Given the description of an element on the screen output the (x, y) to click on. 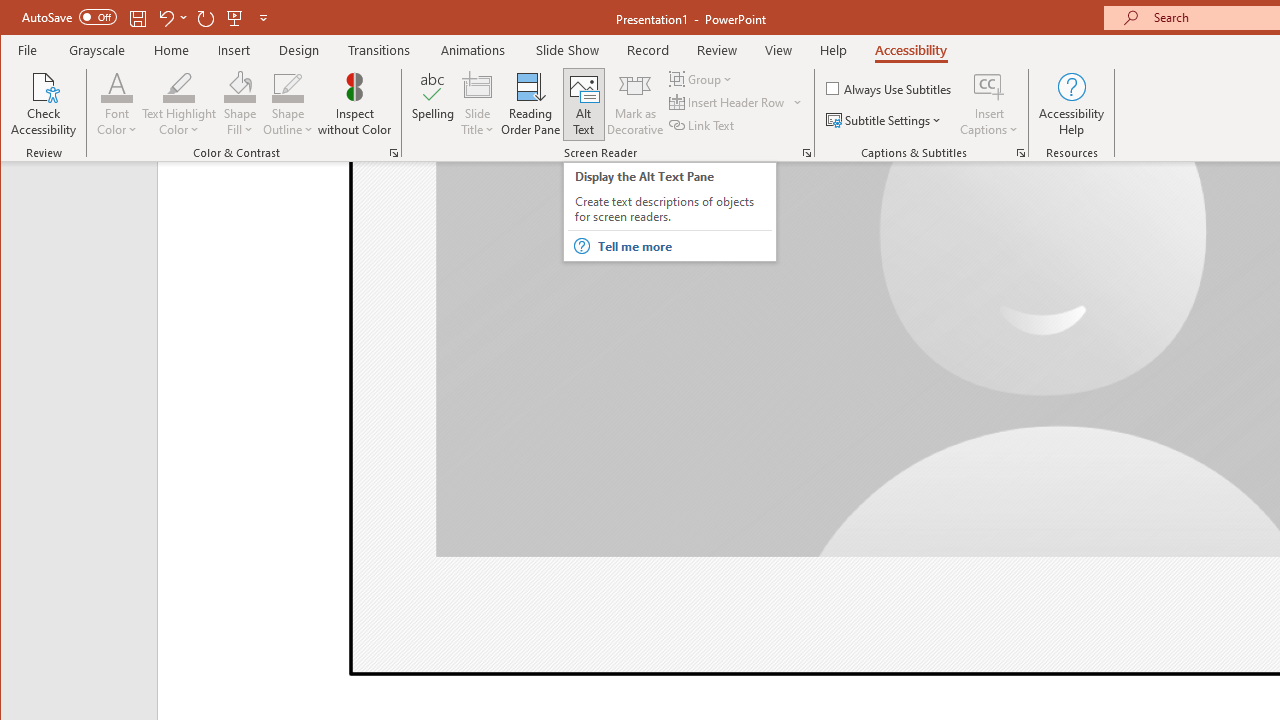
Color & Contrast (393, 152)
Screen Reader (806, 152)
Accessibility Help (1071, 104)
